Given the description of an element on the screen output the (x, y) to click on. 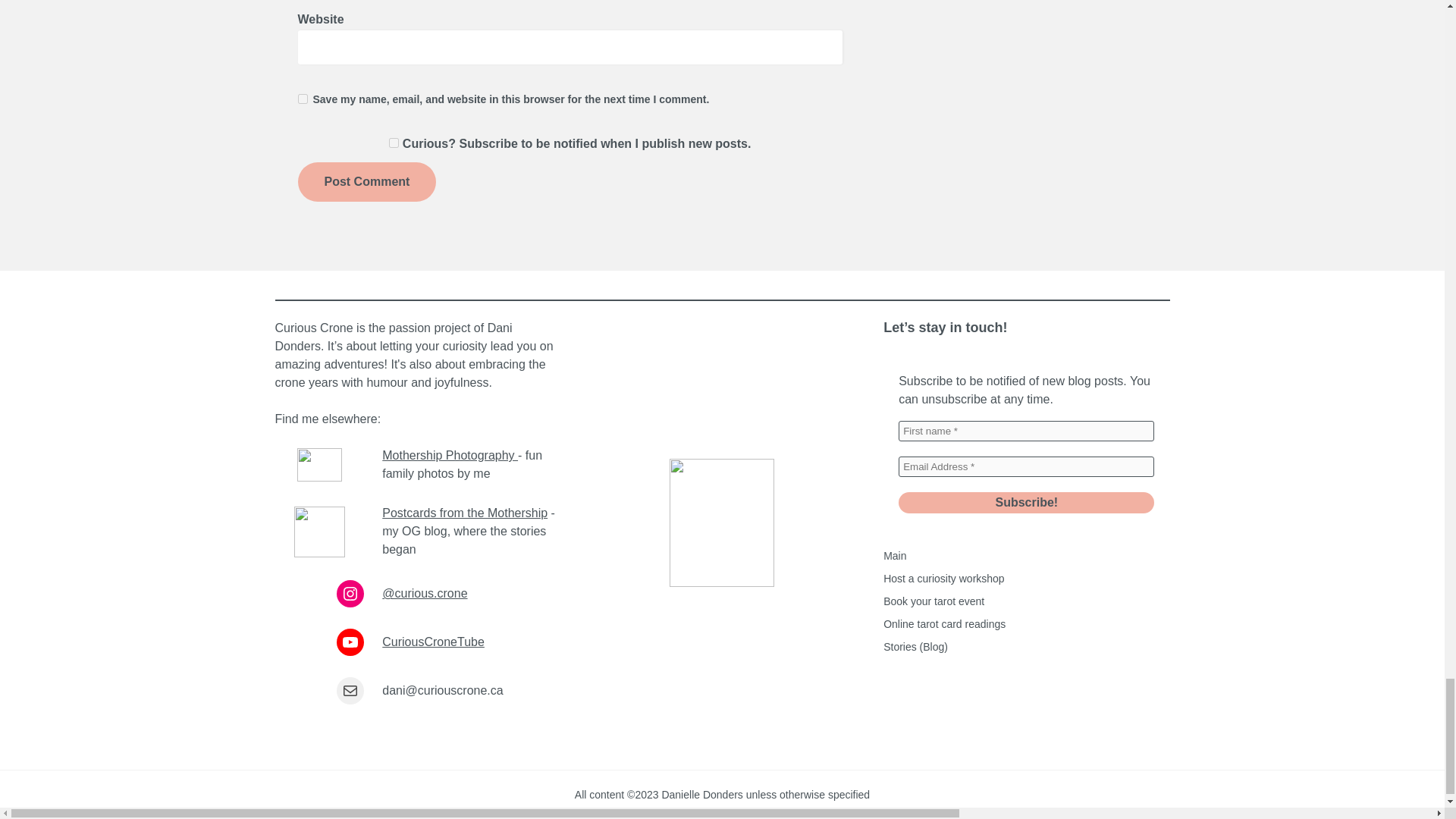
yes (302, 99)
1 (393, 143)
First name (1026, 430)
Post Comment (366, 181)
Subscribe! (1026, 502)
Post Comment (366, 181)
Email Address (1026, 466)
